Given the description of an element on the screen output the (x, y) to click on. 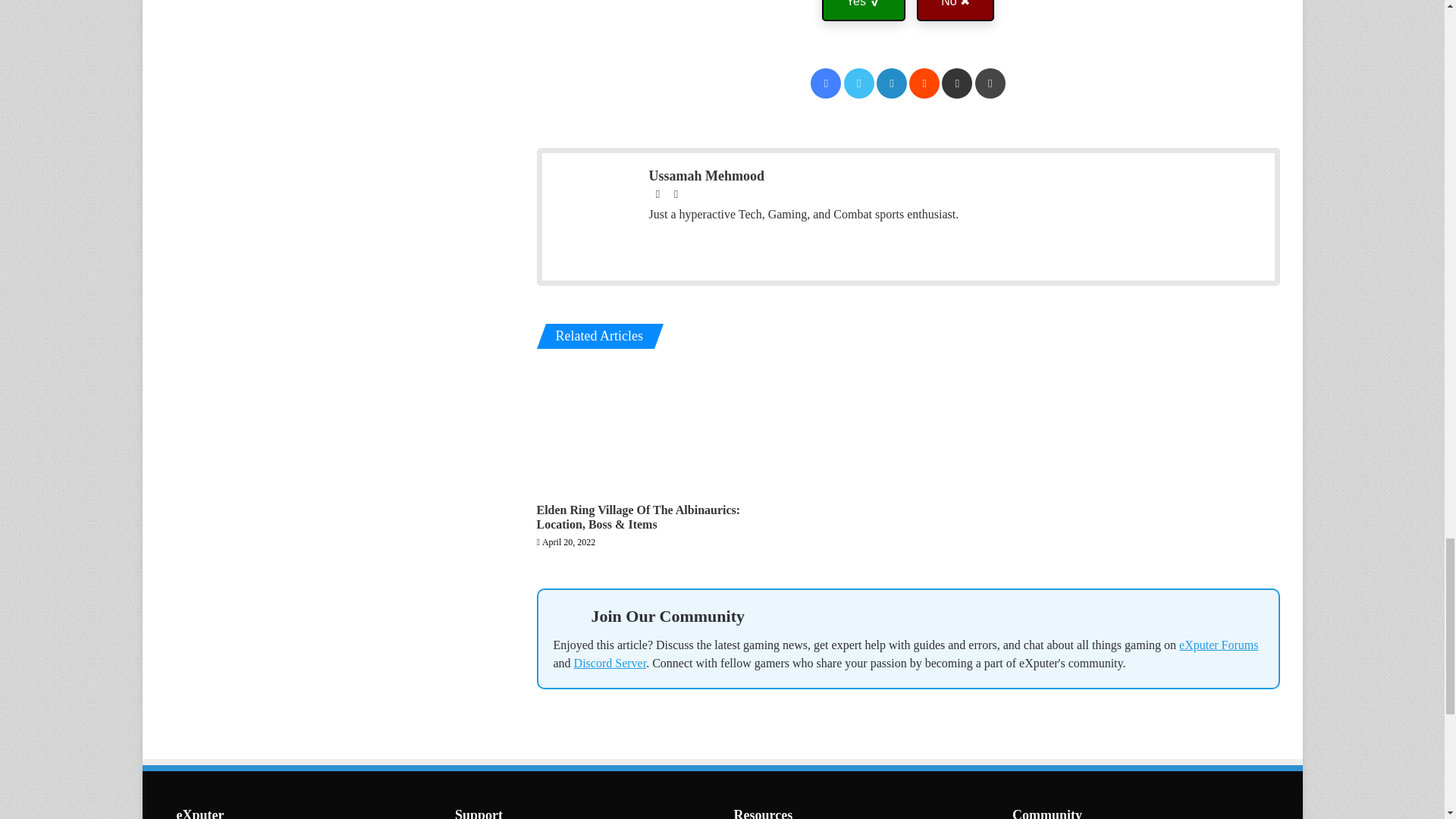
Reddit (923, 82)
Print (990, 82)
LinkedIn (891, 82)
Facebook (825, 82)
Twitter (859, 82)
Share via Email (957, 82)
